Given the description of an element on the screen output the (x, y) to click on. 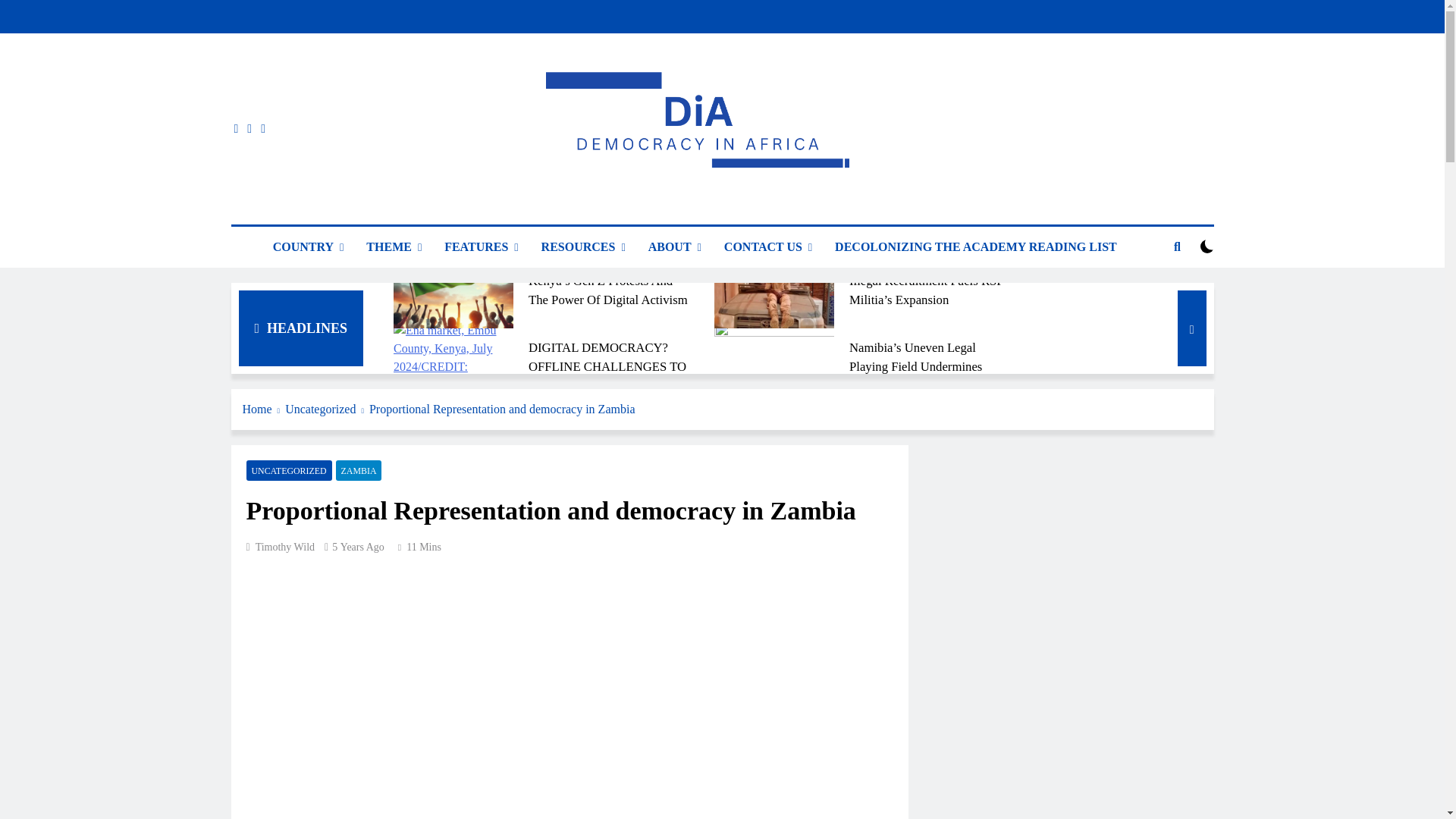
COUNTRY (308, 246)
Democracy In Africa (583, 210)
on (1206, 246)
